Given the description of an element on the screen output the (x, y) to click on. 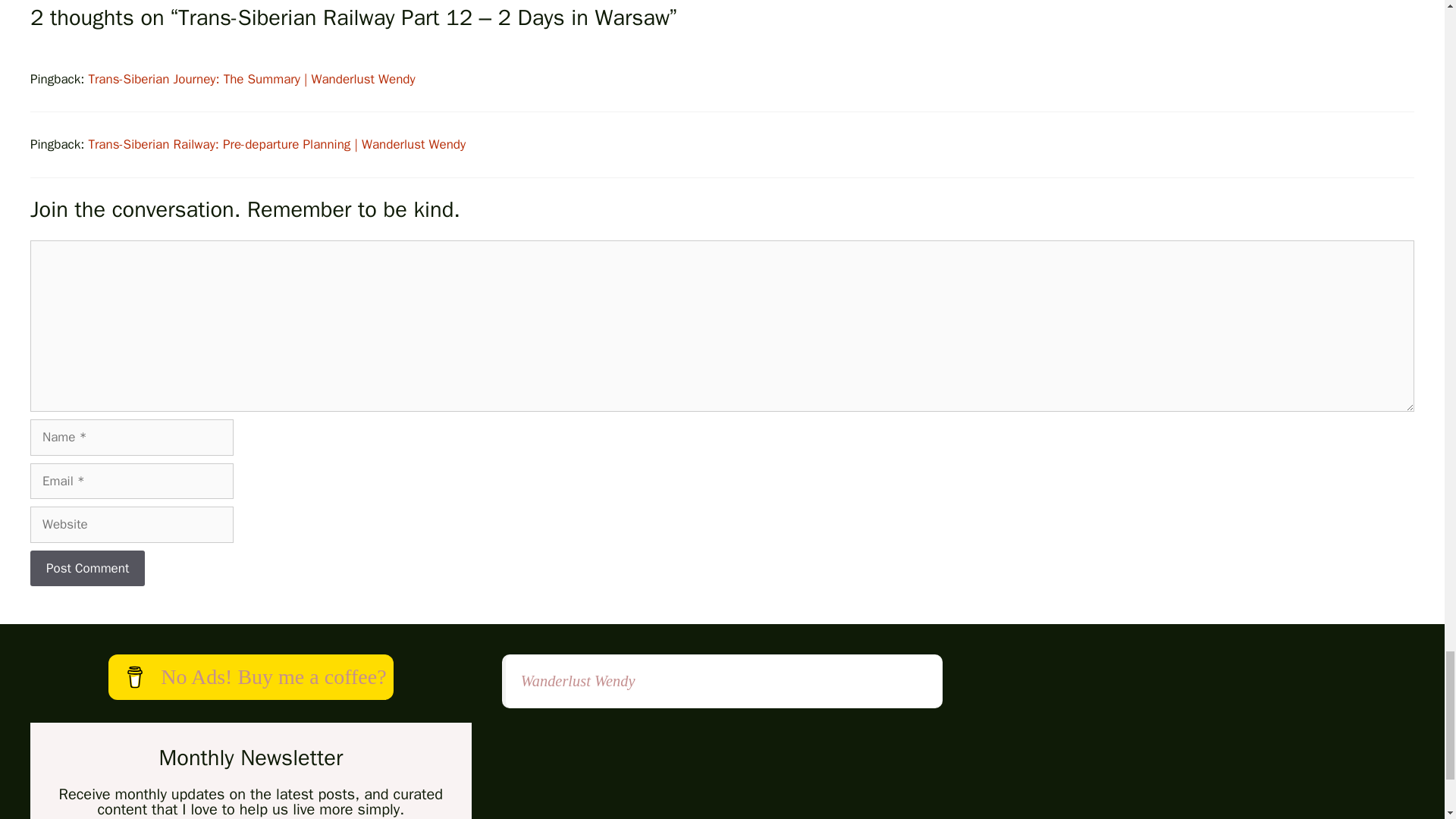
Post Comment (87, 568)
